Given the description of an element on the screen output the (x, y) to click on. 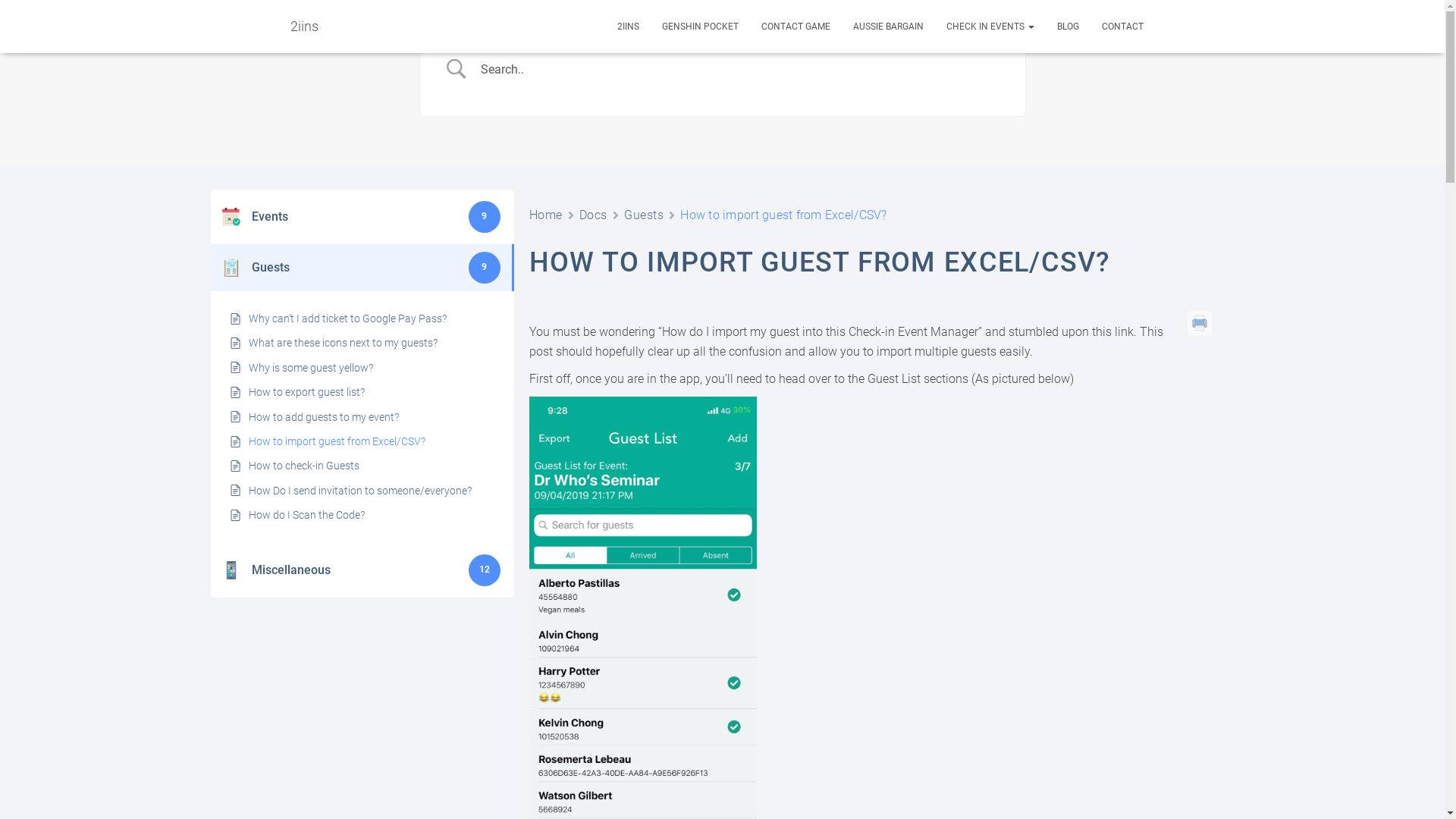
CONTACT GAME Element type: text (794, 26)
Why is some guest yellow? Element type: text (310, 367)
GENSHIN POCKET Element type: text (699, 26)
2iins Element type: text (304, 26)
Docs Element type: text (593, 214)
How to add guests to my event? Element type: text (323, 416)
BLOG Element type: text (1066, 26)
Guests Element type: text (643, 214)
How to check-in Guests Element type: text (303, 465)
What are these icons next to my guests? Element type: text (342, 342)
2IINS Element type: text (627, 26)
How to import guest from Excel/CSV? Element type: text (336, 441)
AUSSIE BARGAIN Element type: text (888, 26)
How to export guest list? Element type: text (306, 391)
How Do I send invitation to someone/everyone? Element type: text (359, 490)
CHECK IN EVENTS Element type: text (989, 26)
CONTACT Element type: text (1122, 26)
How do I Scan the Code? Element type: text (306, 514)
Home Element type: text (545, 214)
